Given the description of an element on the screen output the (x, y) to click on. 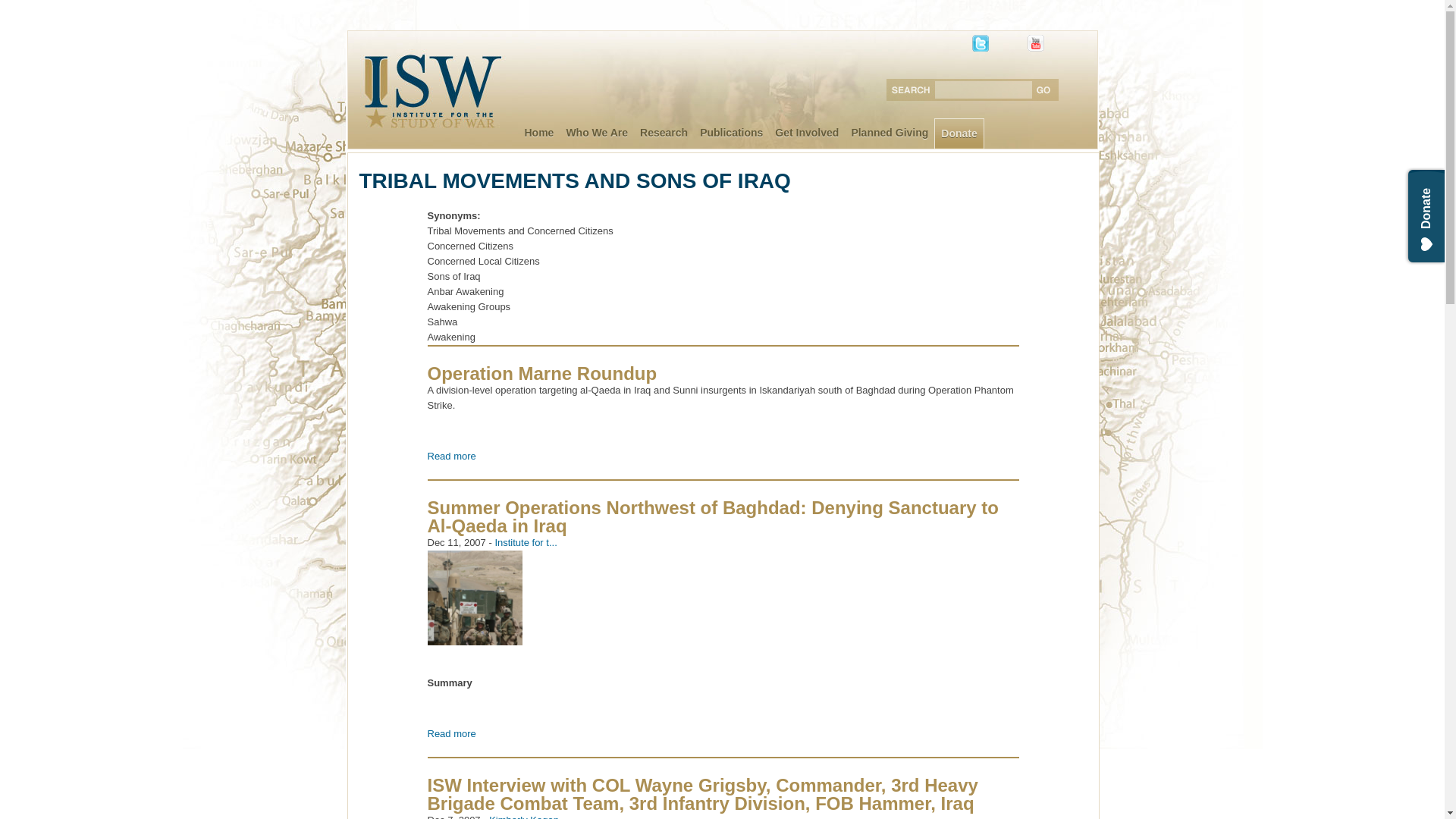
Get Involved (806, 132)
Home (539, 132)
Enter the terms you wish to search for. (985, 89)
Publications (731, 132)
Operation Marne Roundup (543, 373)
Kimberly Kagan (524, 816)
Institute for t... (525, 542)
Research (663, 132)
View user profile. (524, 816)
Planned Giving (889, 132)
